Given the description of an element on the screen output the (x, y) to click on. 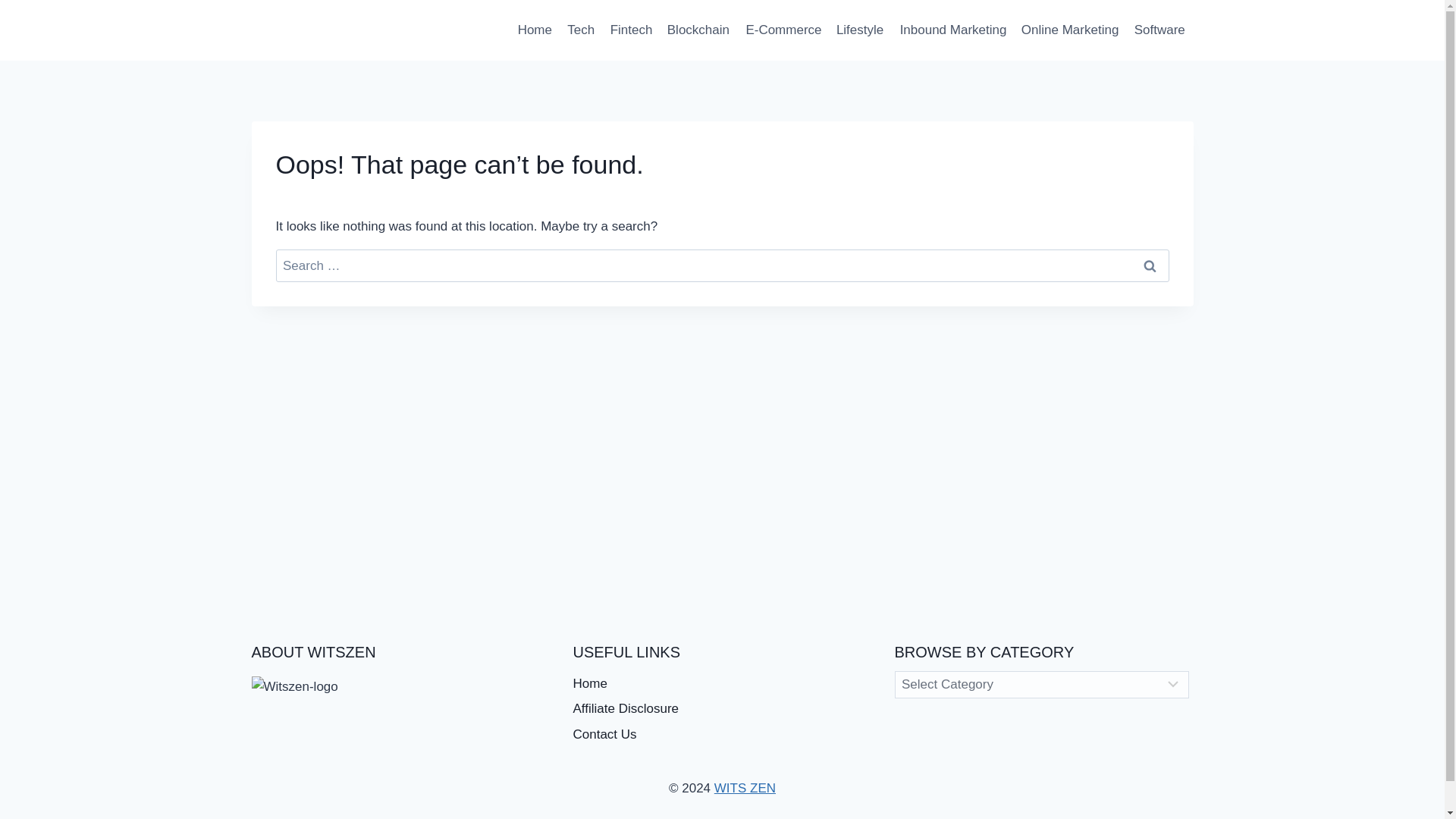
E-Commerce (783, 30)
Search (1150, 265)
Blockchain (698, 30)
Affiliate Disclosure (722, 709)
Software (1159, 30)
Home (722, 683)
Home (534, 30)
Fintech (630, 30)
Lifestyle (859, 30)
Contact Us (722, 735)
